Given the description of an element on the screen output the (x, y) to click on. 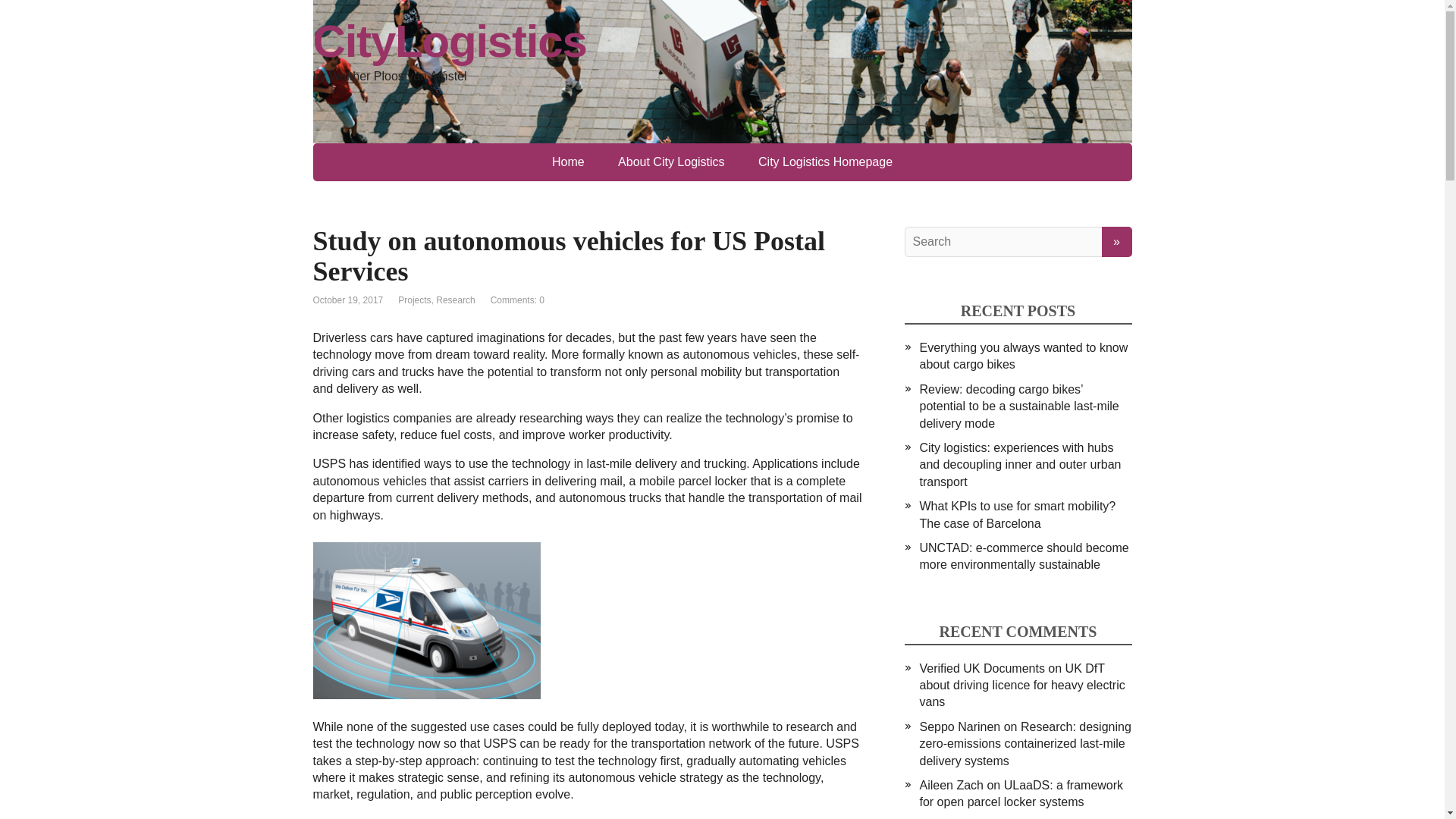
Home (568, 161)
Research (454, 299)
About City Logistics (670, 161)
City Logistics Homepage (824, 161)
What KPIs to use for smart mobility? The case of Barcelona (1016, 514)
ULaaDS: a framework for open parcel locker systems (1020, 793)
CityLogistics (722, 41)
Aileen Zach (951, 784)
Projects (413, 299)
UK DfT about driving licence for heavy electric vans (1021, 685)
Everything you always wanted to know about cargo bikes (1022, 356)
Seppo Narinen (959, 726)
the full report here (394, 818)
